Given the description of an element on the screen output the (x, y) to click on. 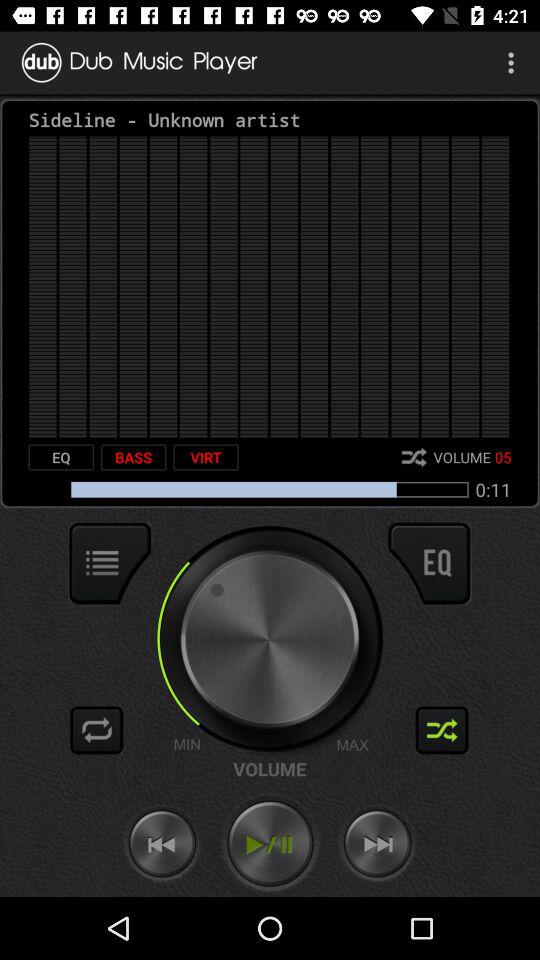
press eq   icon (61, 457)
